Given the description of an element on the screen output the (x, y) to click on. 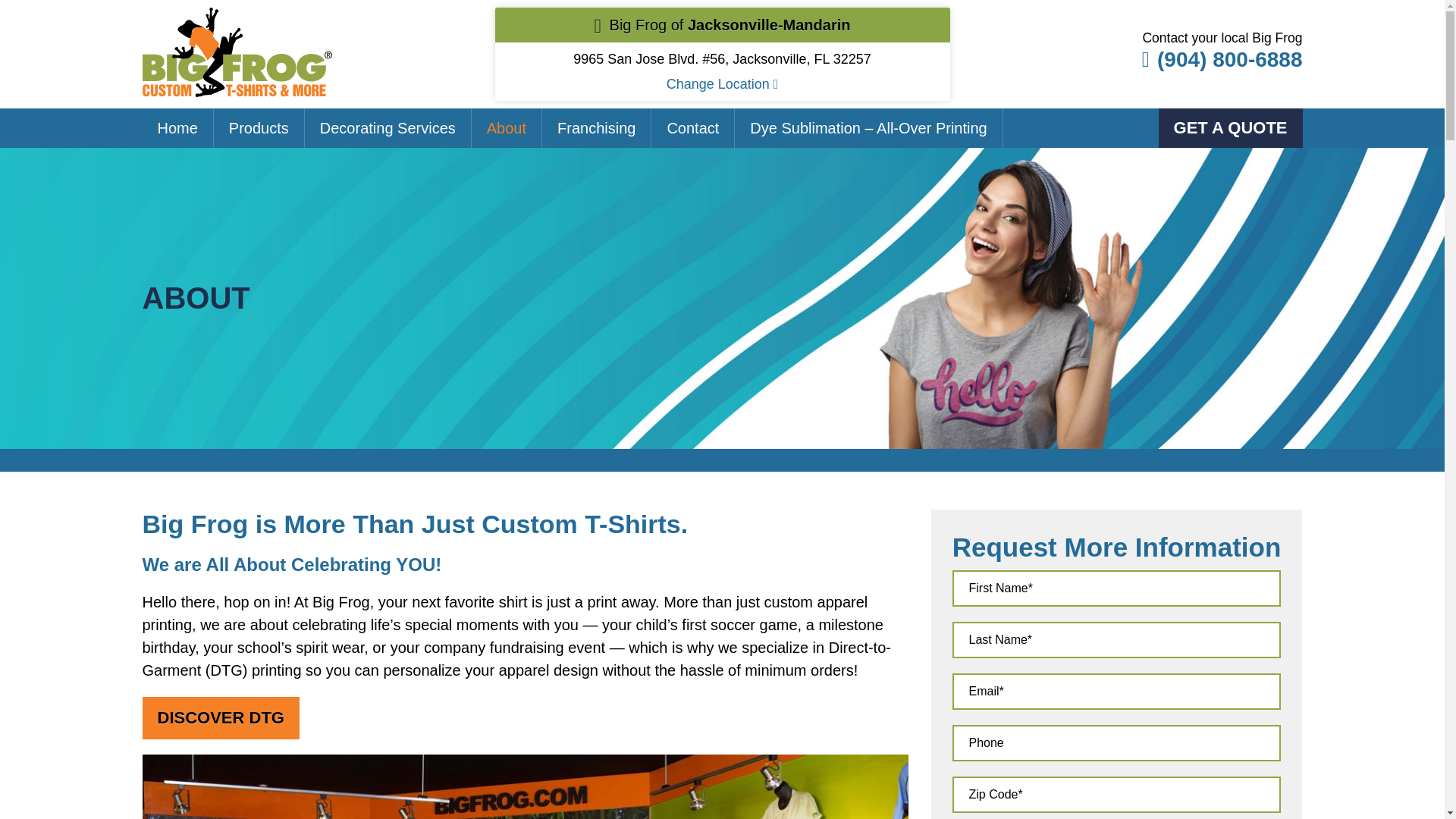
Decorating Services (387, 128)
Change Location (722, 83)
Franchising (595, 128)
Home (177, 128)
Contact (692, 128)
DISCOVER DTG (220, 717)
Products (258, 128)
GET A QUOTE (1230, 128)
Big Frog logo, custom t-shirts and more, homepage (236, 18)
About (505, 128)
